Given the description of an element on the screen output the (x, y) to click on. 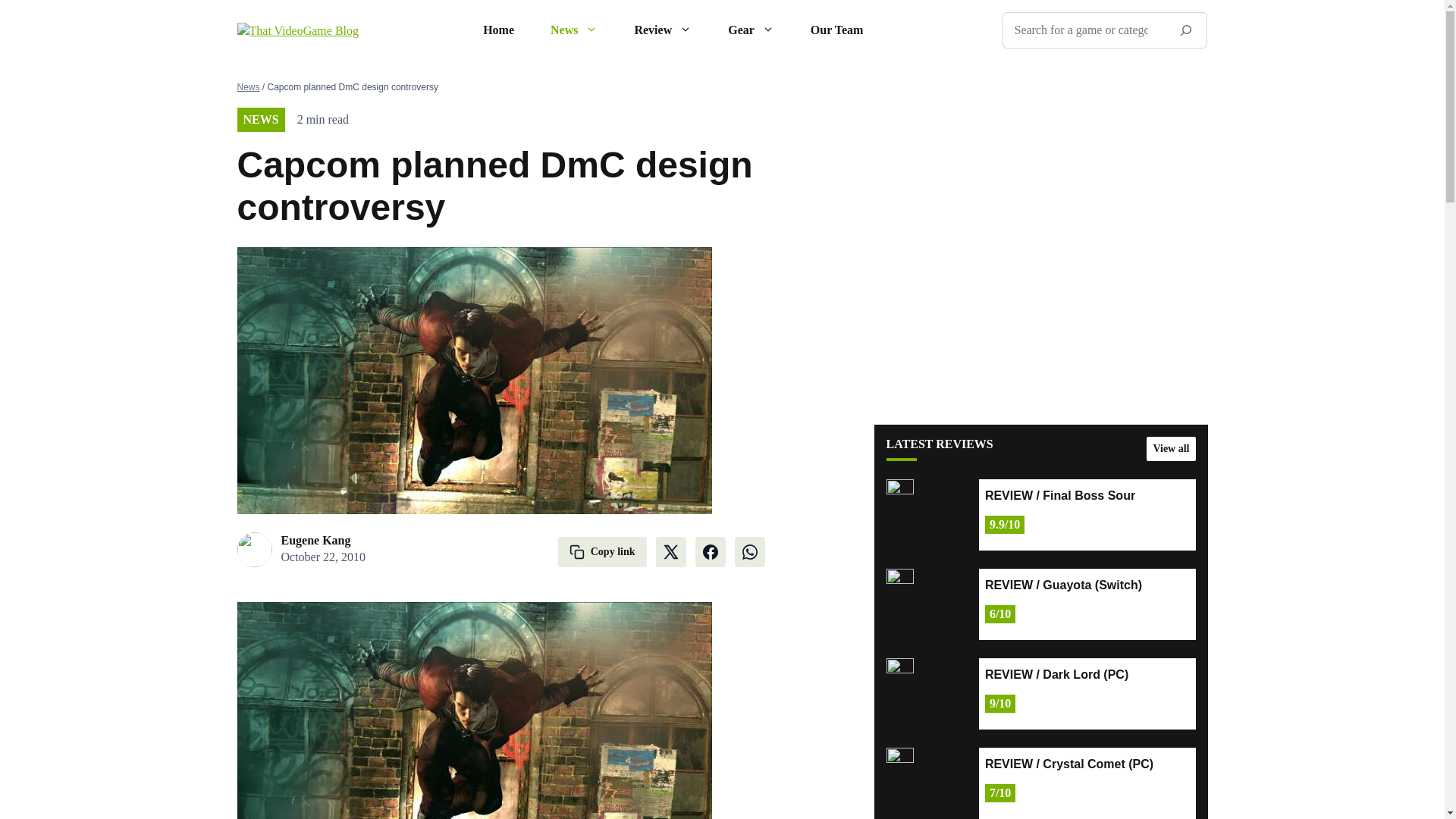
Gear (751, 29)
Review (662, 29)
Home (498, 29)
News (573, 29)
